Given the description of an element on the screen output the (x, y) to click on. 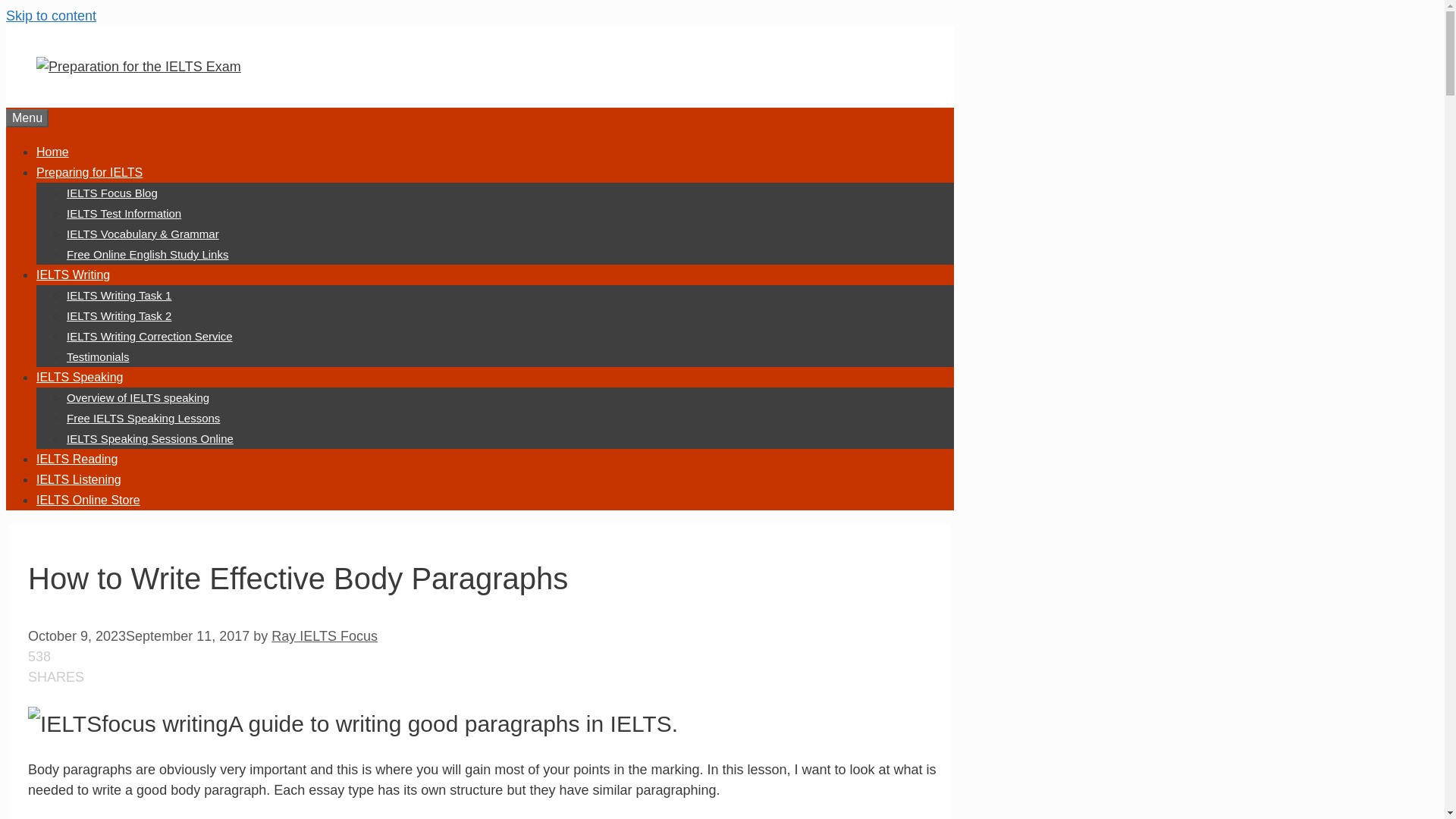
Free Online English Study Links (147, 254)
IELTS Writing Task 2 (118, 315)
Testimonials (97, 356)
IELTS Test Information (123, 213)
Skip to content (50, 15)
IELTS Listening (78, 479)
Tweet (538, 687)
Menu (26, 117)
IELTS Writing (73, 274)
IELTS Reading (76, 459)
